Given the description of an element on the screen output the (x, y) to click on. 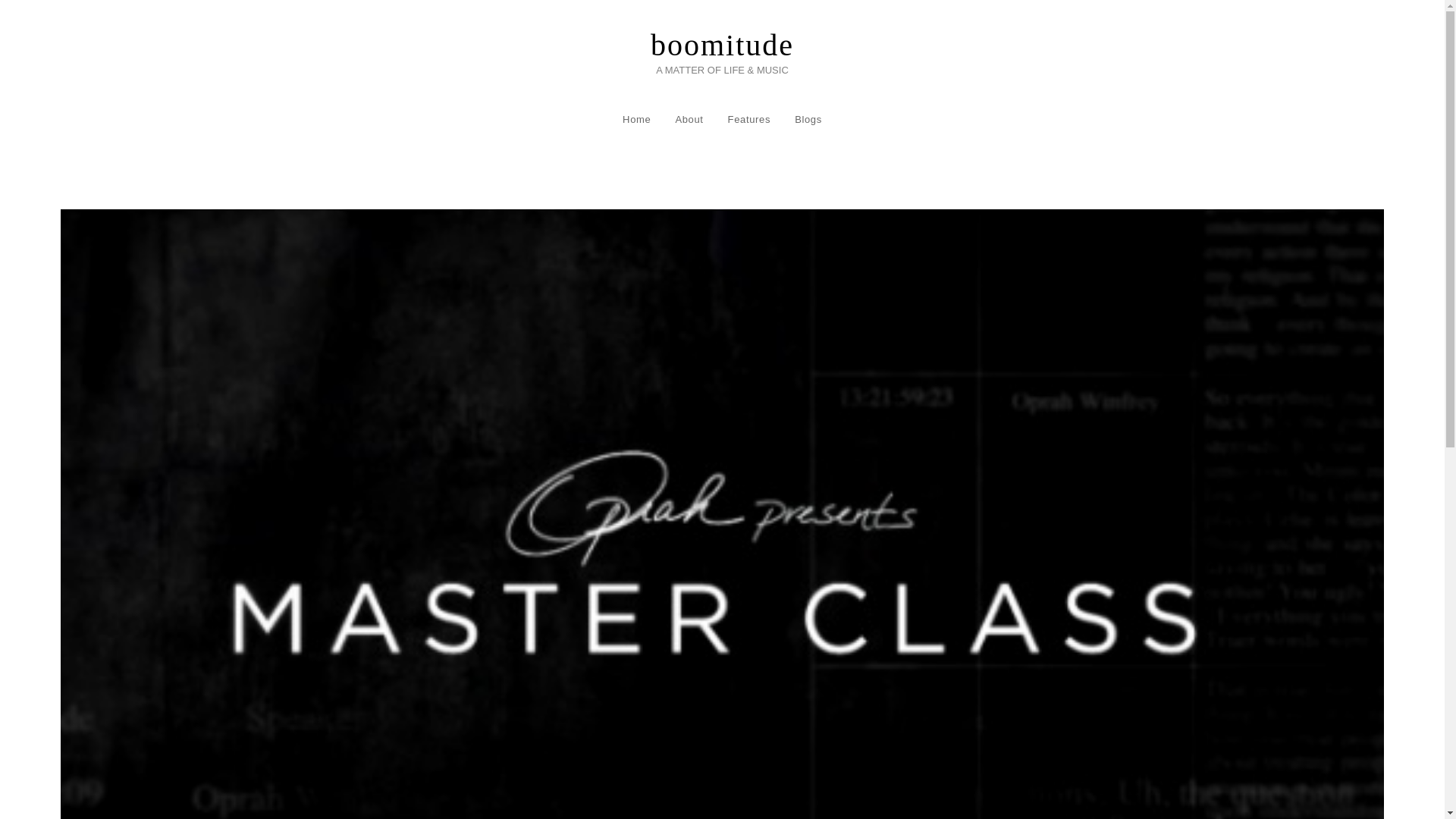
Features (749, 119)
Home (636, 119)
About (688, 119)
Blogs (808, 119)
boomitude (721, 45)
